Given the description of an element on the screen output the (x, y) to click on. 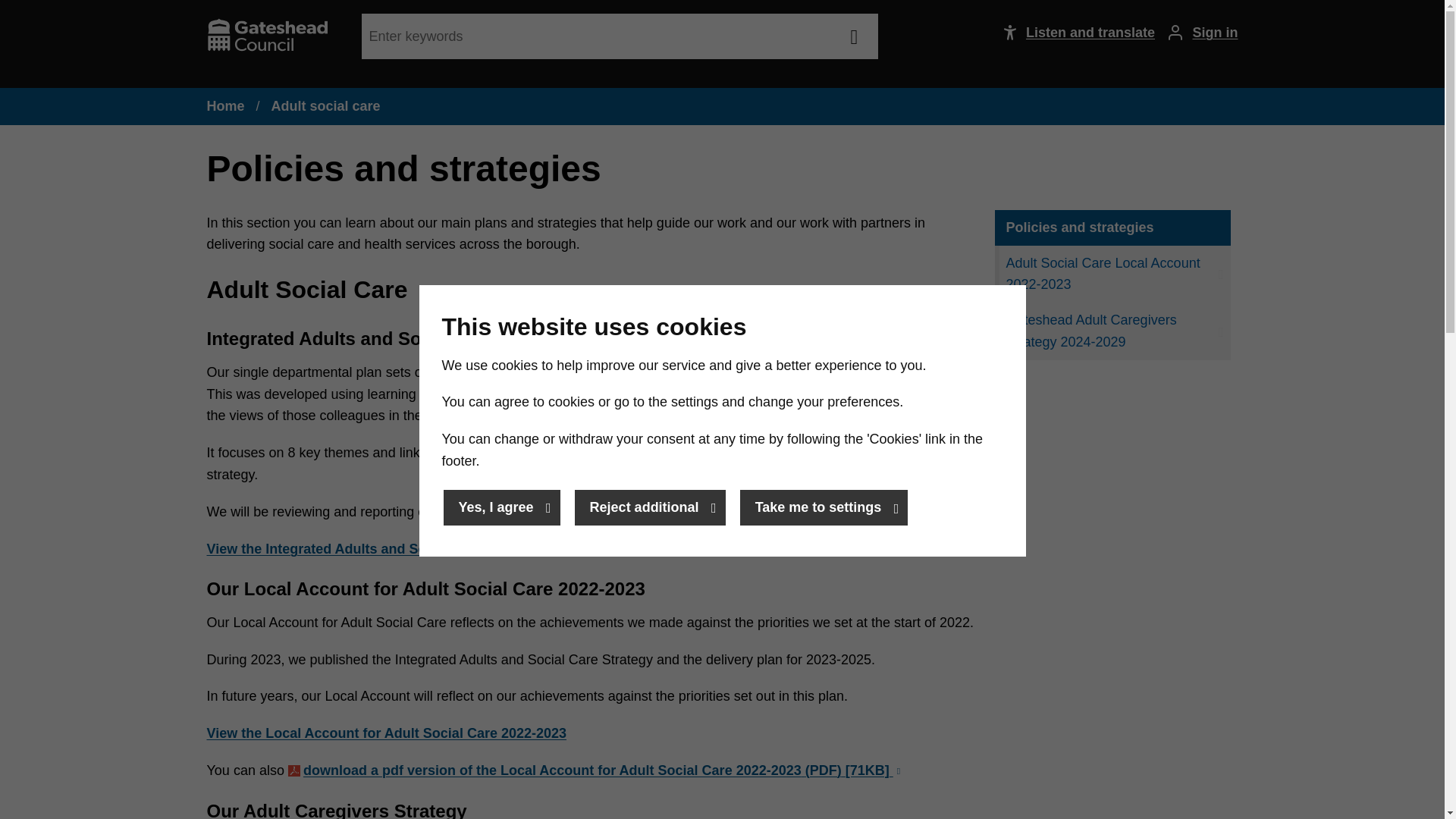
Home (225, 105)
Adult Social Care Local Account 2022-2023 (1112, 274)
Listen and translate (1071, 32)
Search this website (853, 36)
Take me to settings (824, 507)
Skip to main content (16, 15)
Sign in (1196, 32)
Yes, I agree (500, 507)
View the Local Account for Adult Social Care 2022-2023 (386, 733)
Gateshead Adult Caregivers Strategy 2024-2029 (1112, 331)
